Given the description of an element on the screen output the (x, y) to click on. 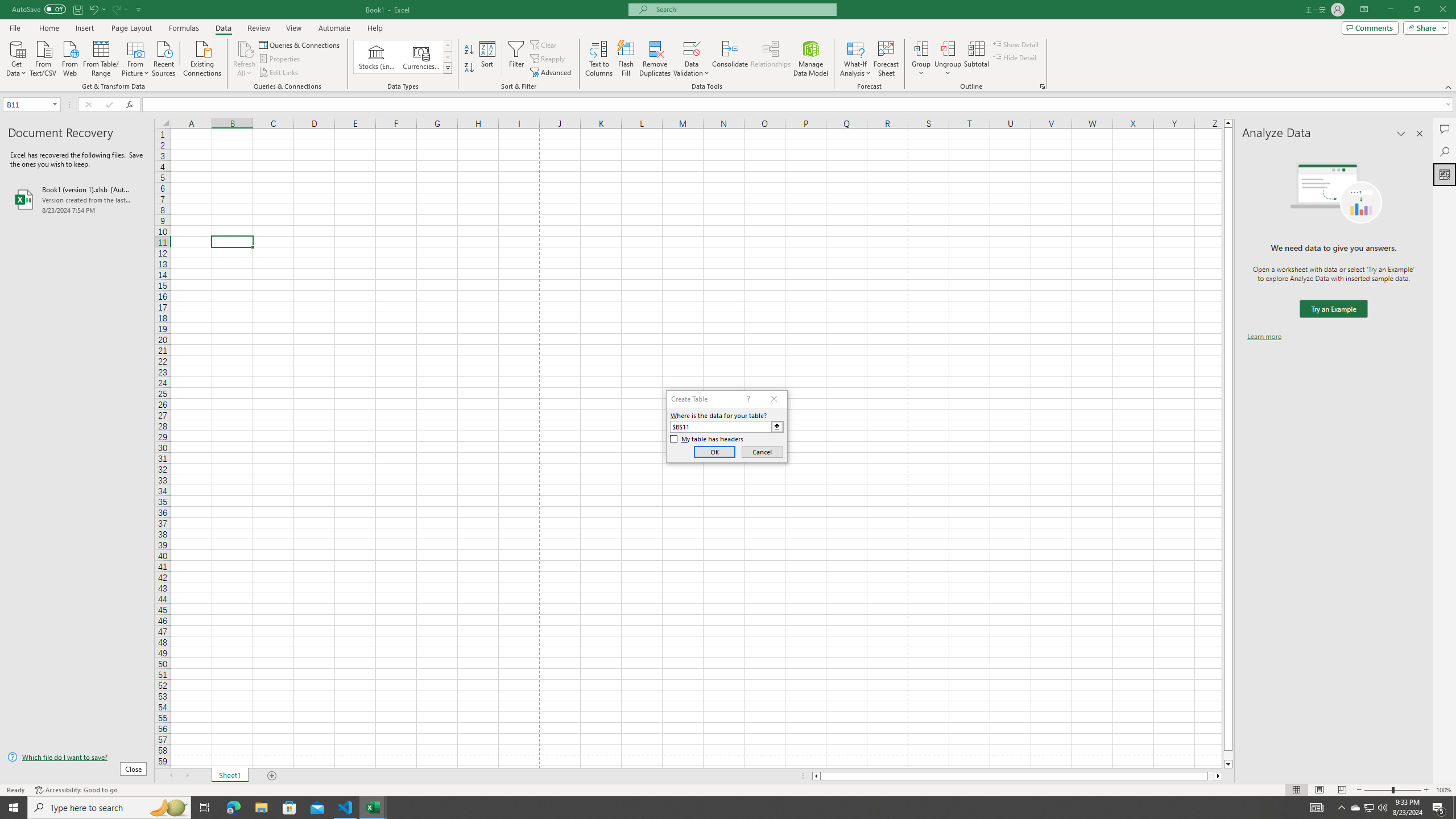
Class: MsoCommandBar (728, 45)
